Given the description of an element on the screen output the (x, y) to click on. 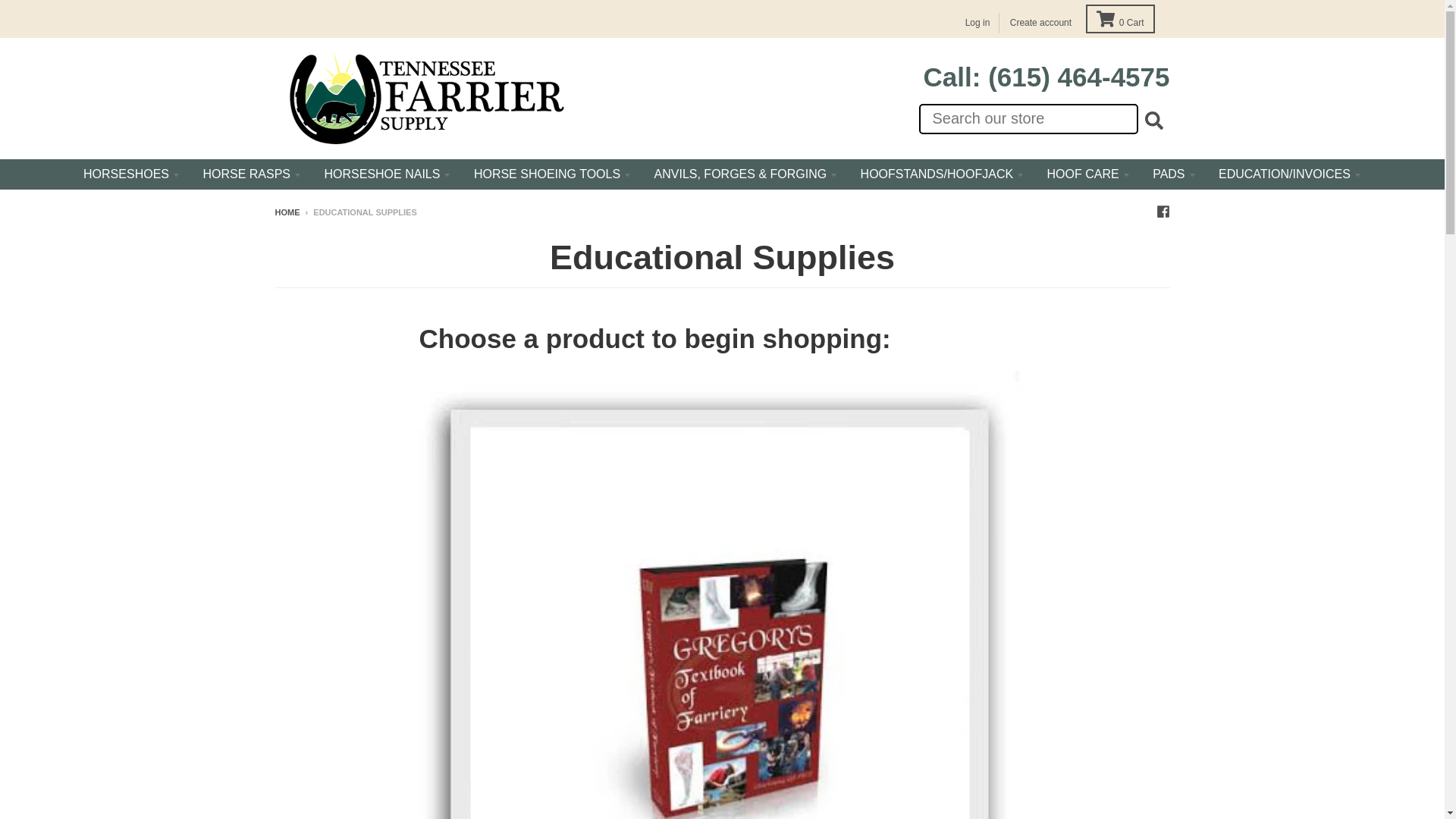
Create account (1040, 23)
Facebook - Tennessee Farrier Supply (1162, 211)
Back to the frontpage (287, 212)
0 Cart (1120, 18)
Log in (977, 23)
HORSESHOES (131, 173)
